Given the description of an element on the screen output the (x, y) to click on. 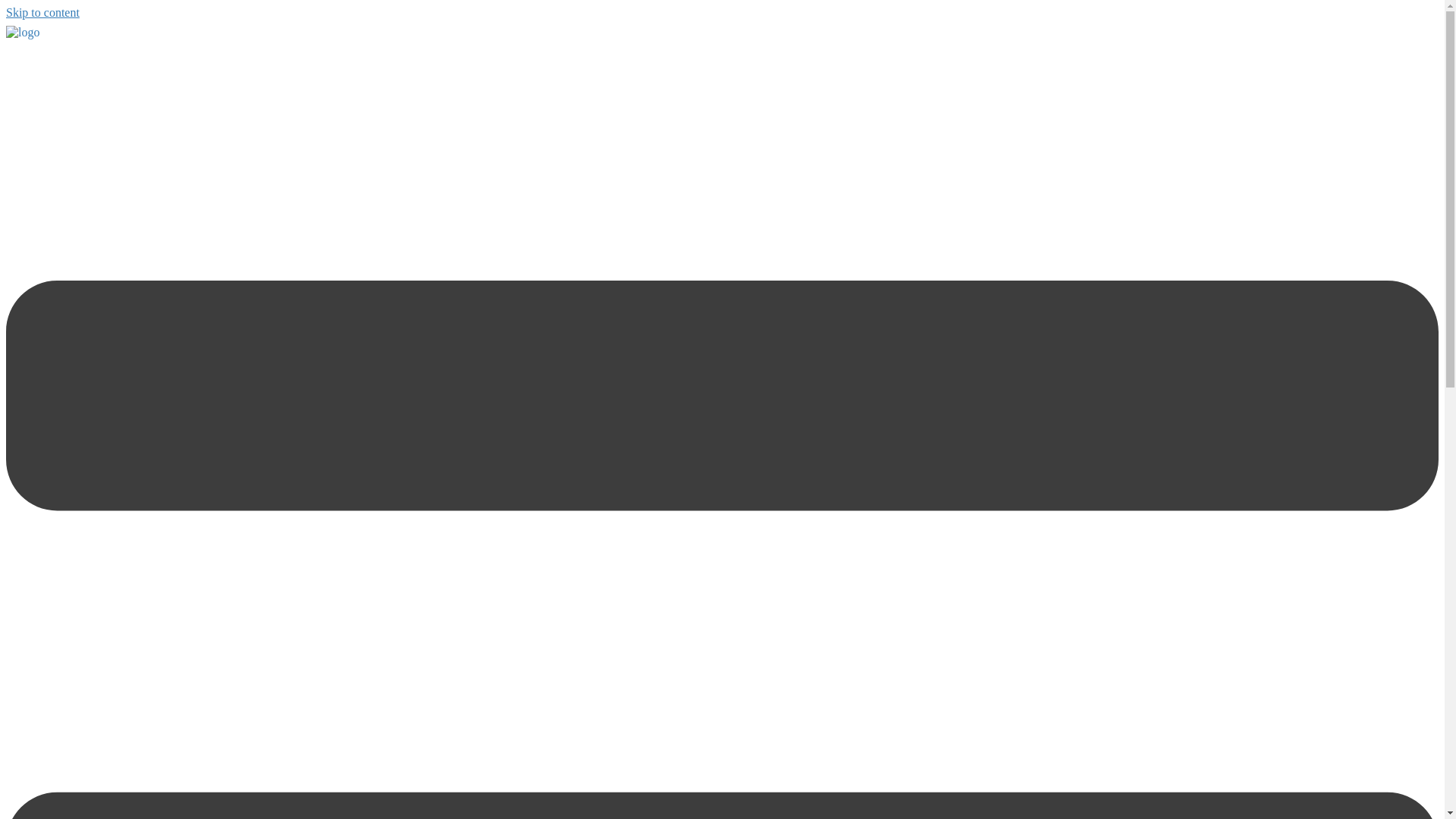
Skip to content (42, 11)
